Given the description of an element on the screen output the (x, y) to click on. 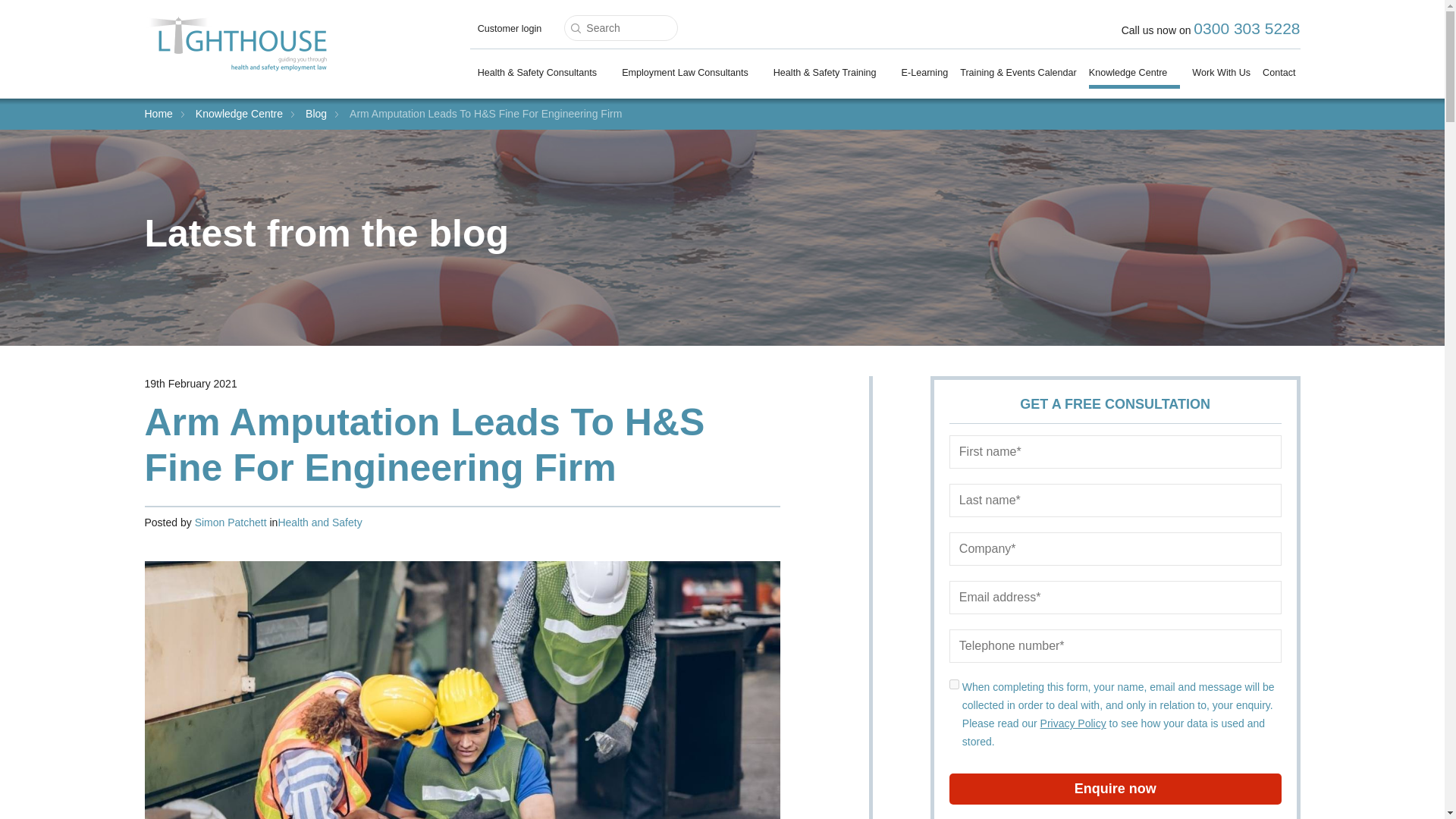
1 (954, 684)
Knowledge Centre (1134, 77)
Enquire now (1115, 788)
Privacy Policy (1073, 723)
Employment Law Consultants (691, 76)
Blog (315, 113)
Customer login (509, 31)
0300 303 5228 (1246, 27)
Contact (1278, 76)
Simon Patchett (230, 522)
